Given the description of an element on the screen output the (x, y) to click on. 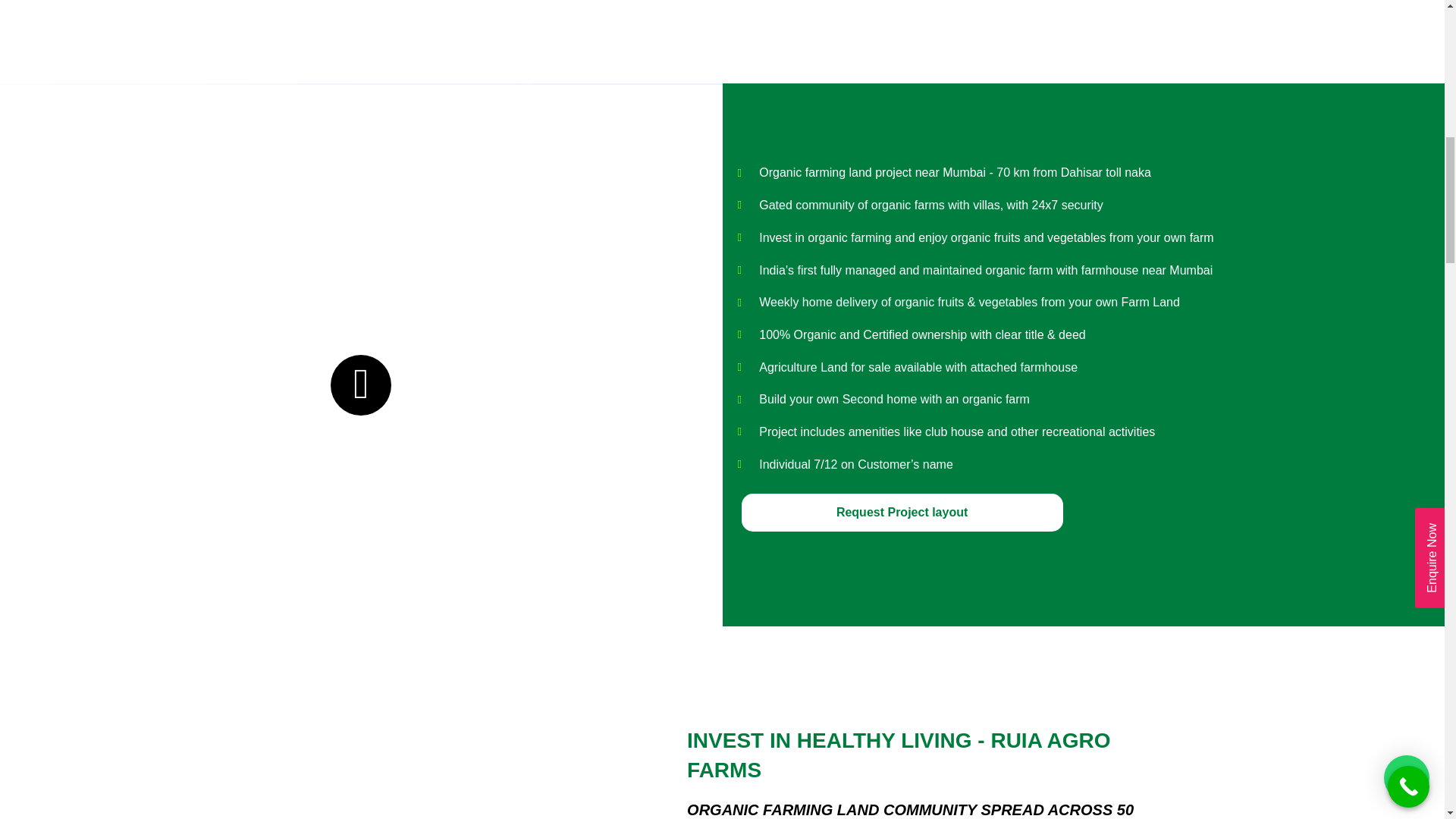
Request Project layout (901, 512)
